Given the description of an element on the screen output the (x, y) to click on. 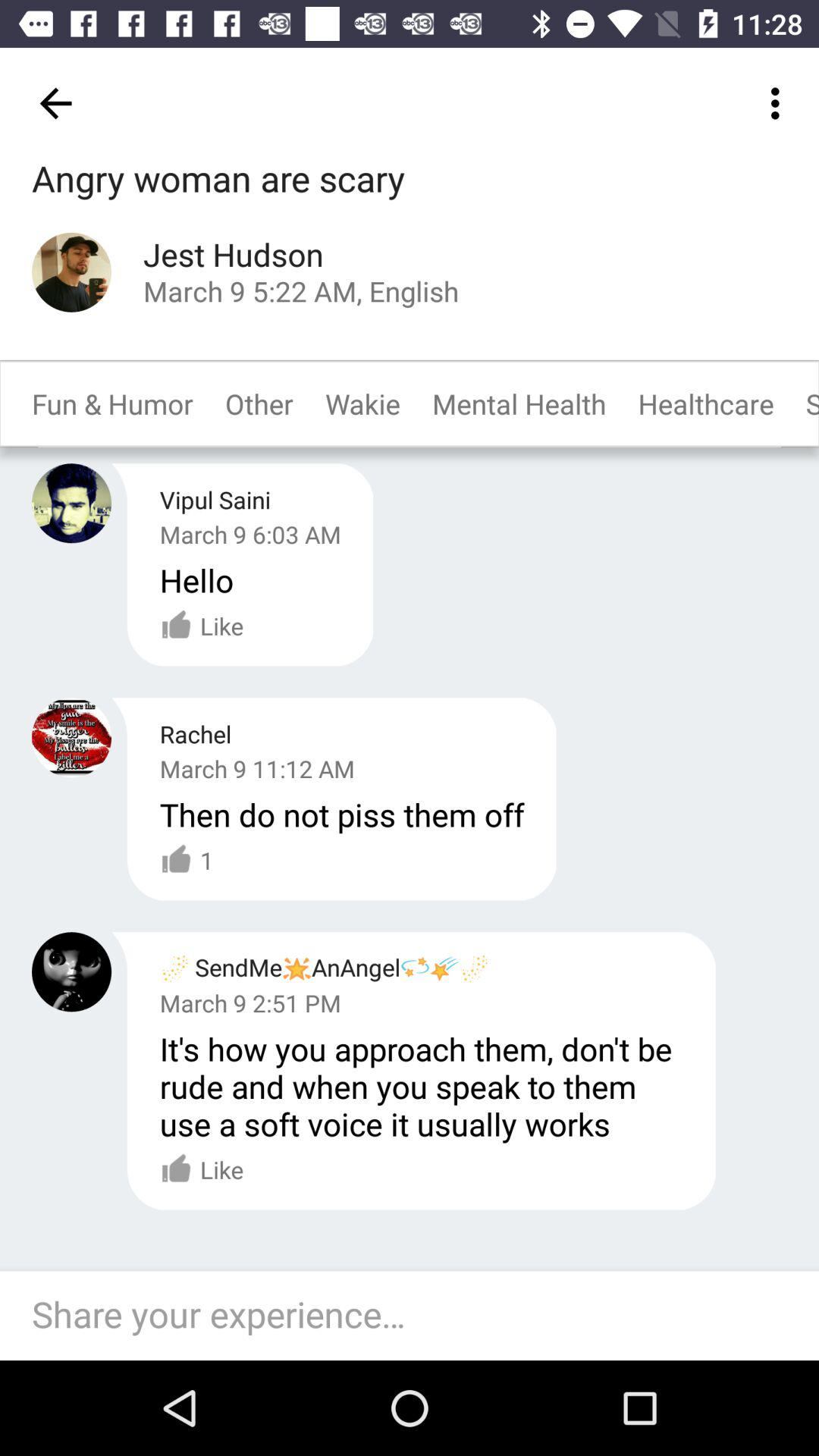
click the hello item (196, 579)
